Given the description of an element on the screen output the (x, y) to click on. 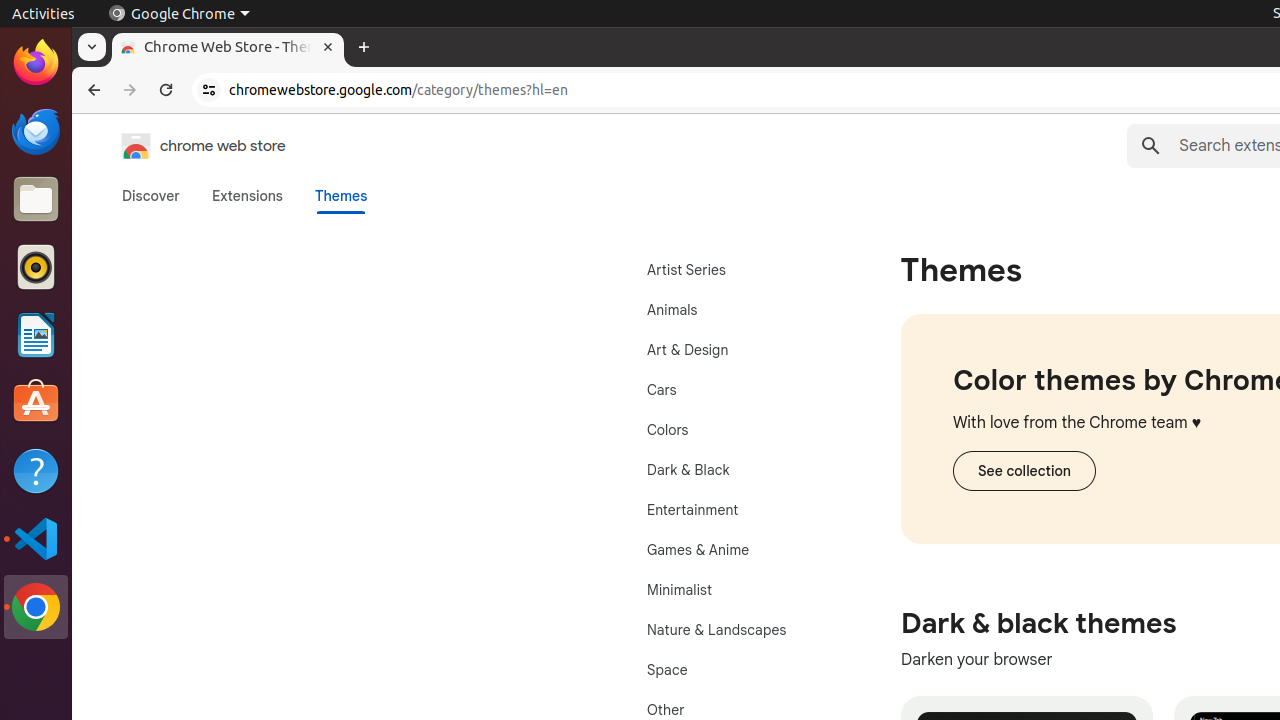
Art & Design Element type: menu-item (737, 349)
Entertainment Element type: menu-item (737, 510)
Chrome Web Store logo chrome web store Element type: link (183, 146)
Space Element type: menu-item (737, 670)
Colors Element type: menu-item (737, 430)
